Given the description of an element on the screen output the (x, y) to click on. 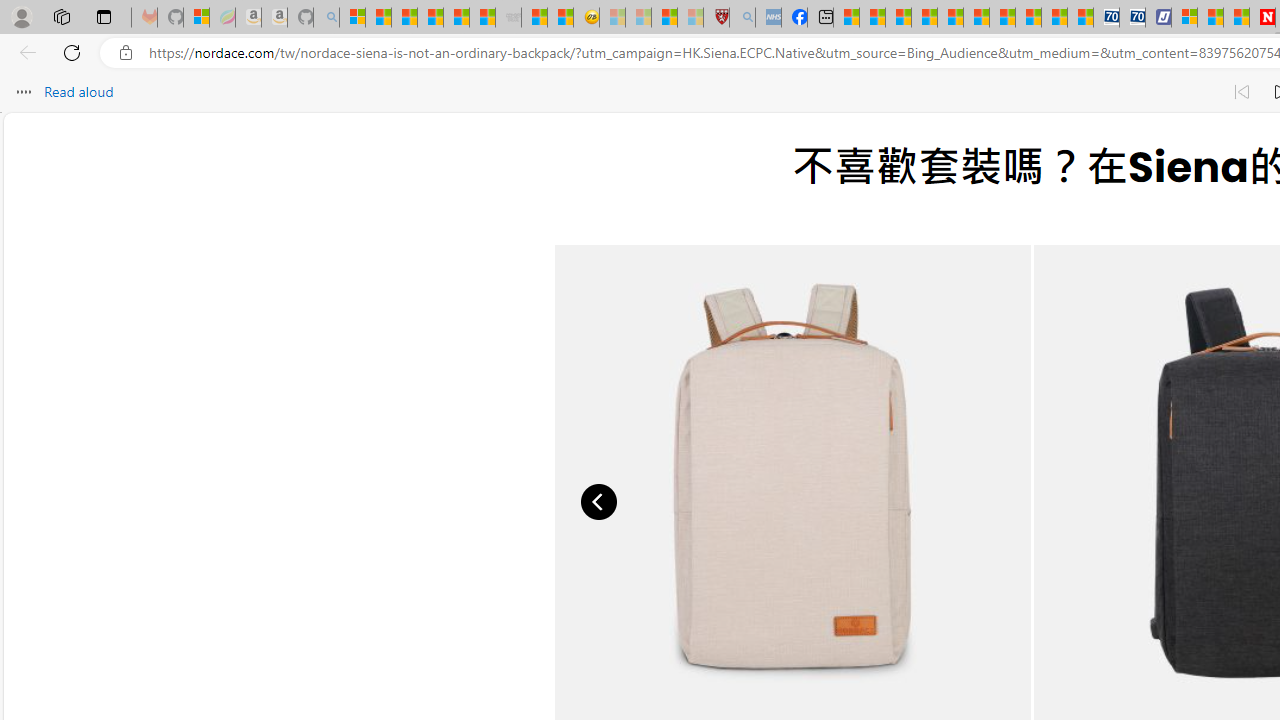
Microsoft account | Privacy (1184, 17)
